Given the description of an element on the screen output the (x, y) to click on. 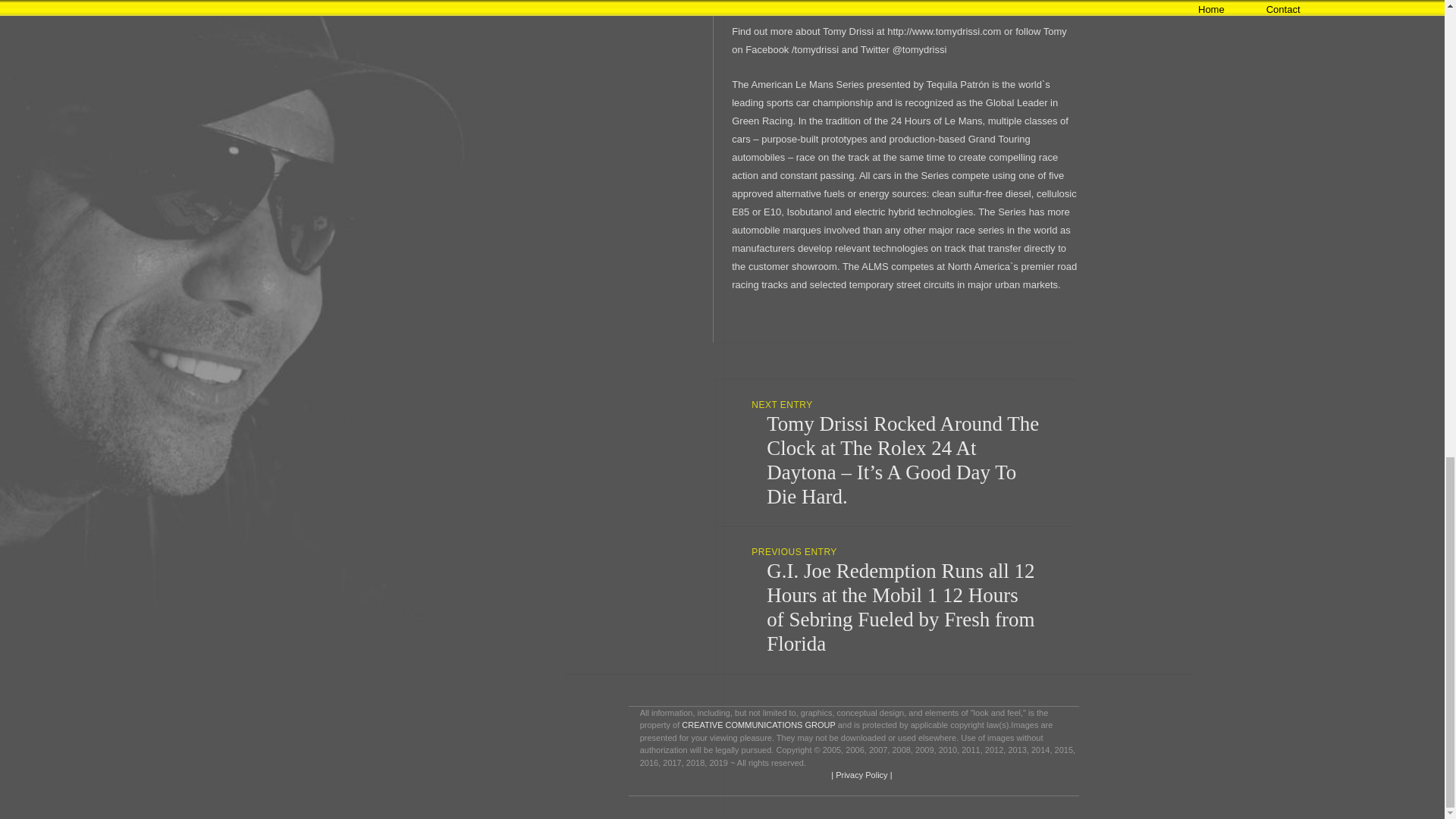
CREATIVE COMMUNICATIONS GROUP (757, 725)
